Given the description of an element on the screen output the (x, y) to click on. 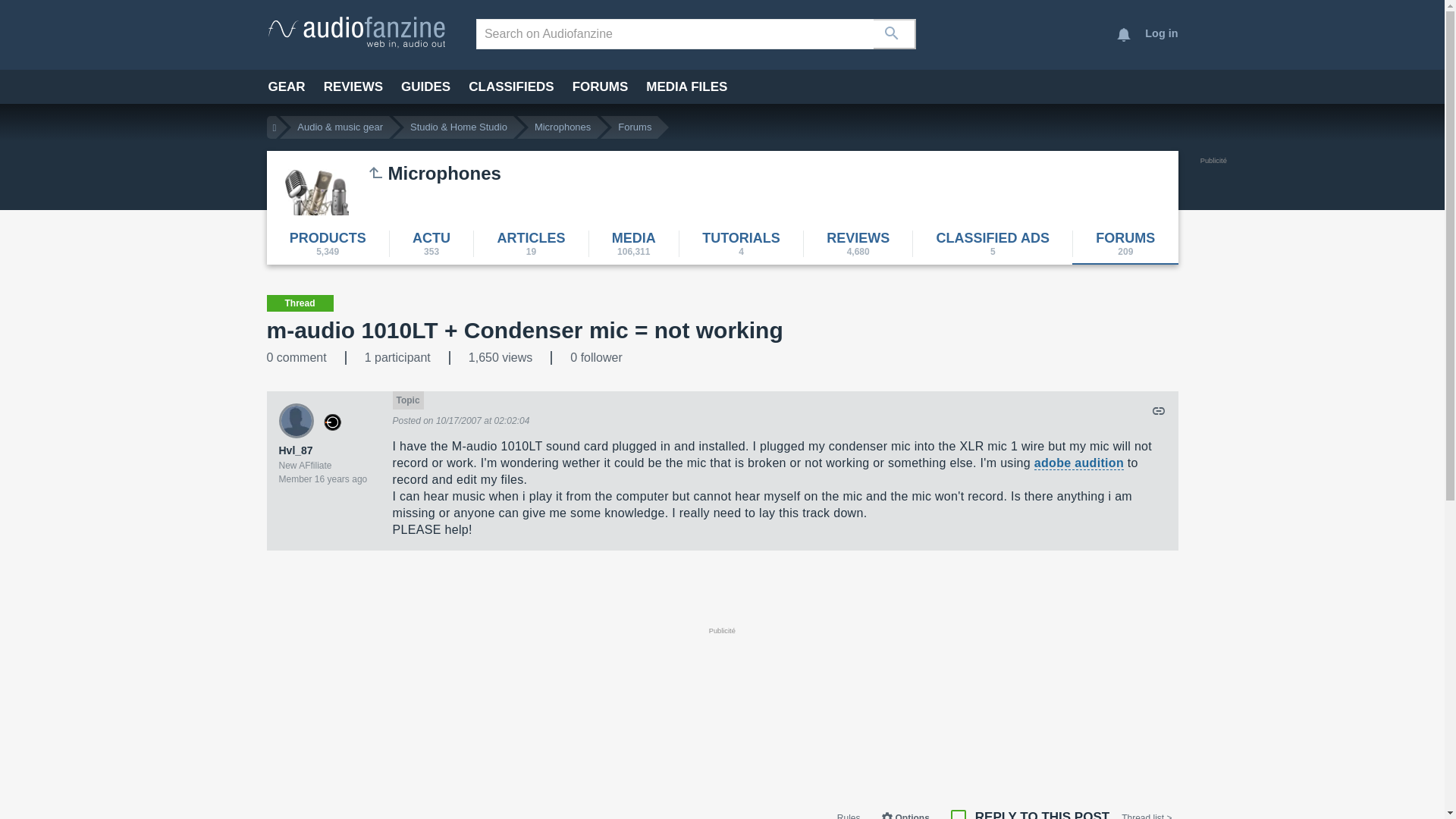
Search (894, 33)
List of the 5,349 microphones products (327, 243)
4 microphones tips or tutorials (740, 243)
106,311 microphones media files (633, 243)
353 actus microphones (430, 243)
CLASSIFIEDS (511, 86)
Microphones (562, 127)
Forums (633, 127)
209 discussions in the forums about microphones (1124, 243)
FORUMS (600, 86)
Notifications (1123, 34)
4,680 microphones user reviews (857, 243)
19 microphones articles (530, 243)
